Given the description of an element on the screen output the (x, y) to click on. 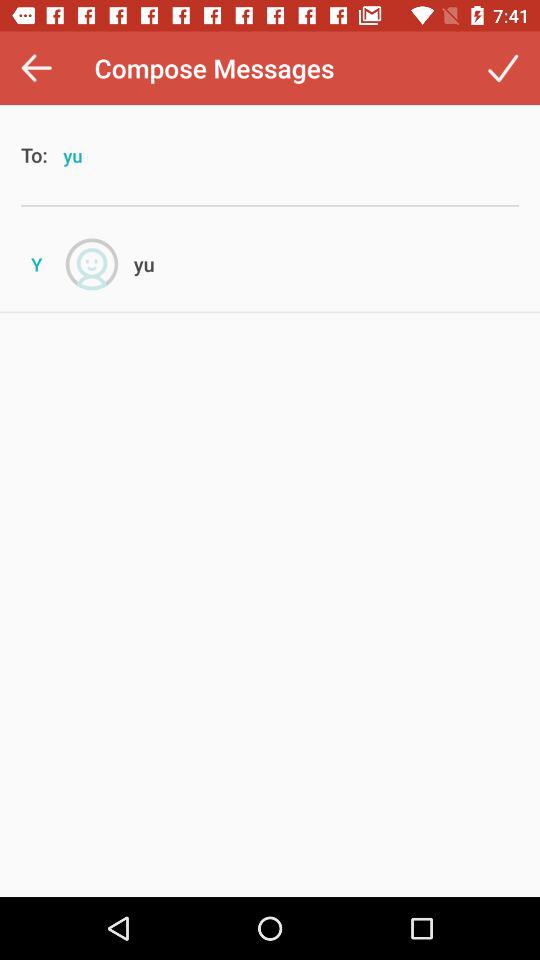
launch y item (36, 263)
